Given the description of an element on the screen output the (x, y) to click on. 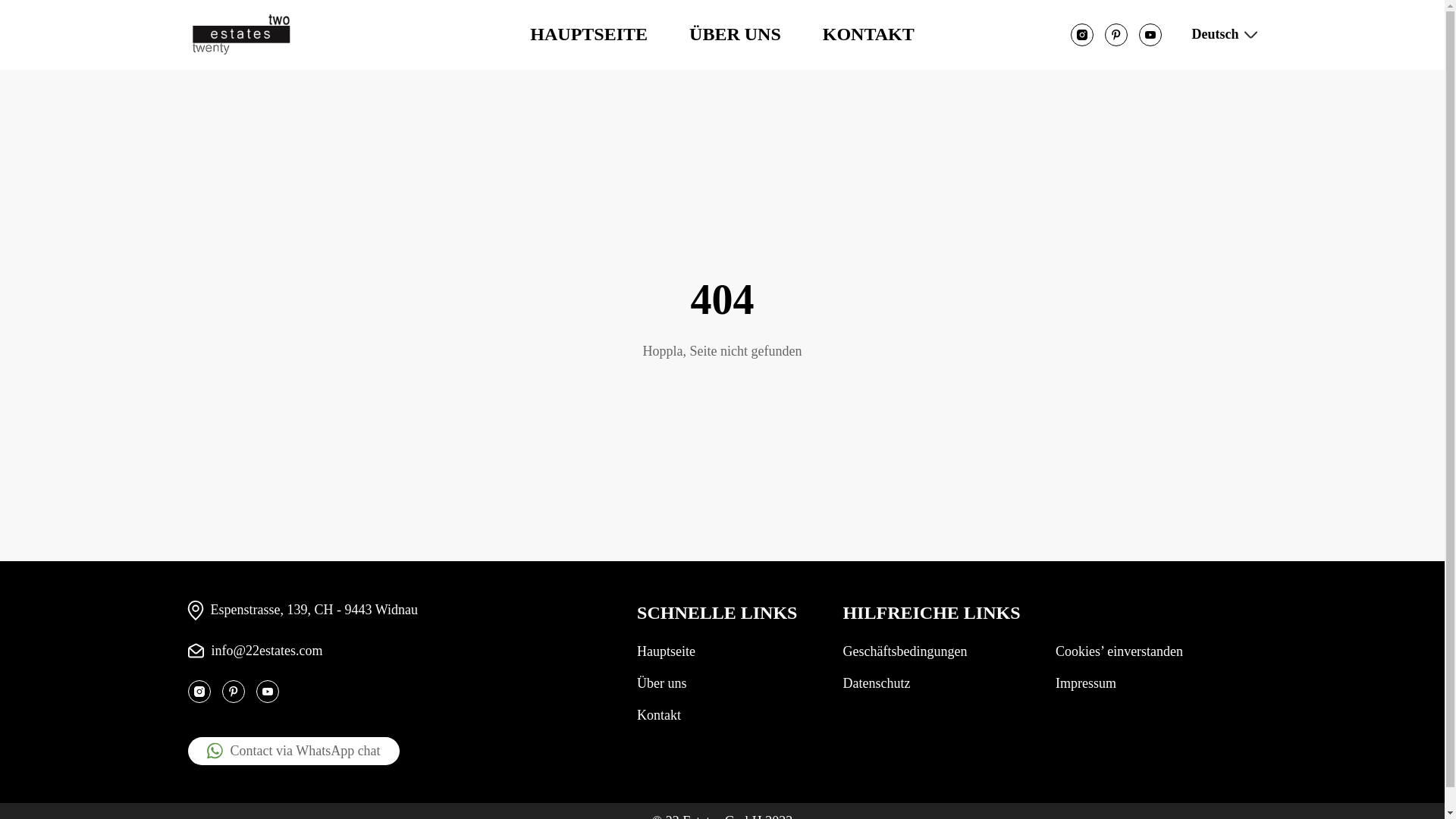
HAUPTSEITE Element type: text (588, 33)
info@22estates.com Element type: text (255, 650)
KONTAKT Element type: text (868, 33)
Datenschutz Element type: text (876, 682)
Impressum Element type: text (1085, 682)
Hauptseite Element type: text (666, 650)
Kontakt Element type: text (658, 714)
Contact via WhatsApp chat Element type: text (293, 751)
